Given the description of an element on the screen output the (x, y) to click on. 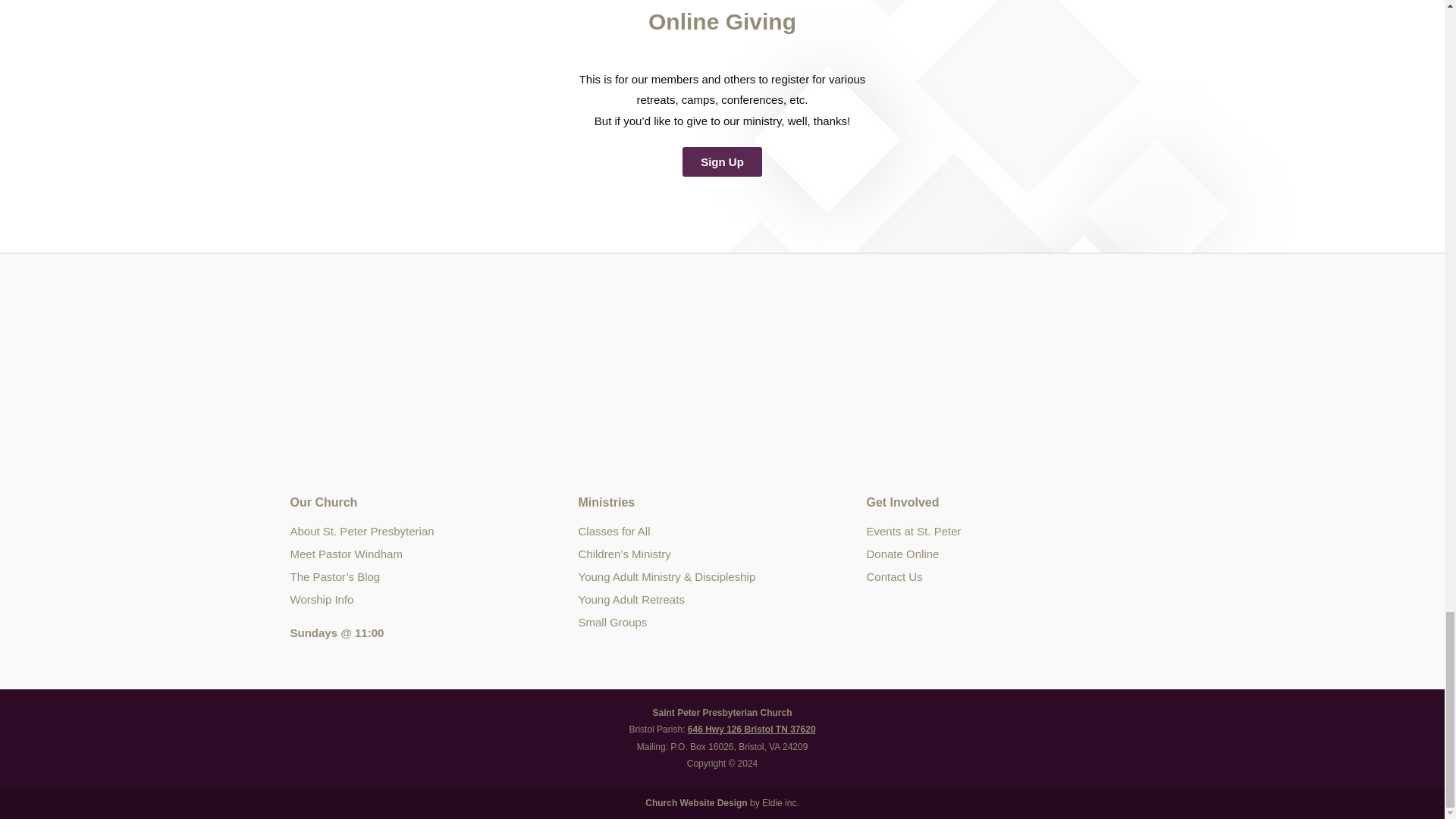
Meet Pastor Windham (433, 554)
About St. Peter Presbyterian (433, 531)
Worship Info (433, 599)
Sign Up (721, 161)
